Given the description of an element on the screen output the (x, y) to click on. 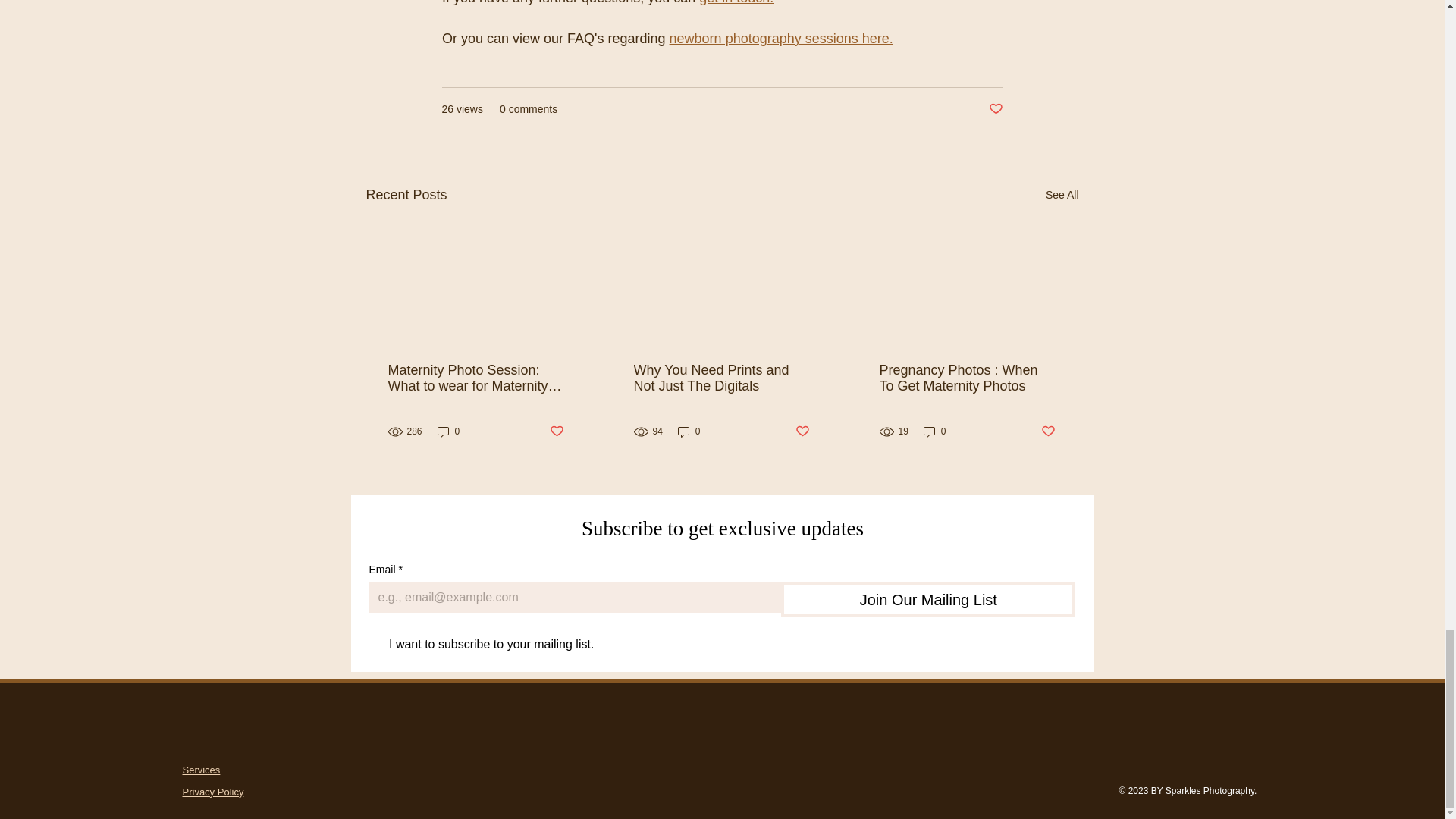
Maternity Photo Session: What to wear for Maternity Photos (476, 377)
Pregnancy Photos : When To Get Maternity Photos (967, 377)
Services (200, 769)
See All (1061, 195)
0 (448, 431)
Post not marked as liked (1047, 431)
0 (934, 431)
Privacy Policy (212, 791)
newborn photography sessions here. (780, 38)
Why You Need Prints and Not Just The Digitals (721, 377)
Join Our Mailing List (927, 599)
0 (689, 431)
Post not marked as liked (801, 431)
Post not marked as liked (555, 431)
